Given the description of an element on the screen output the (x, y) to click on. 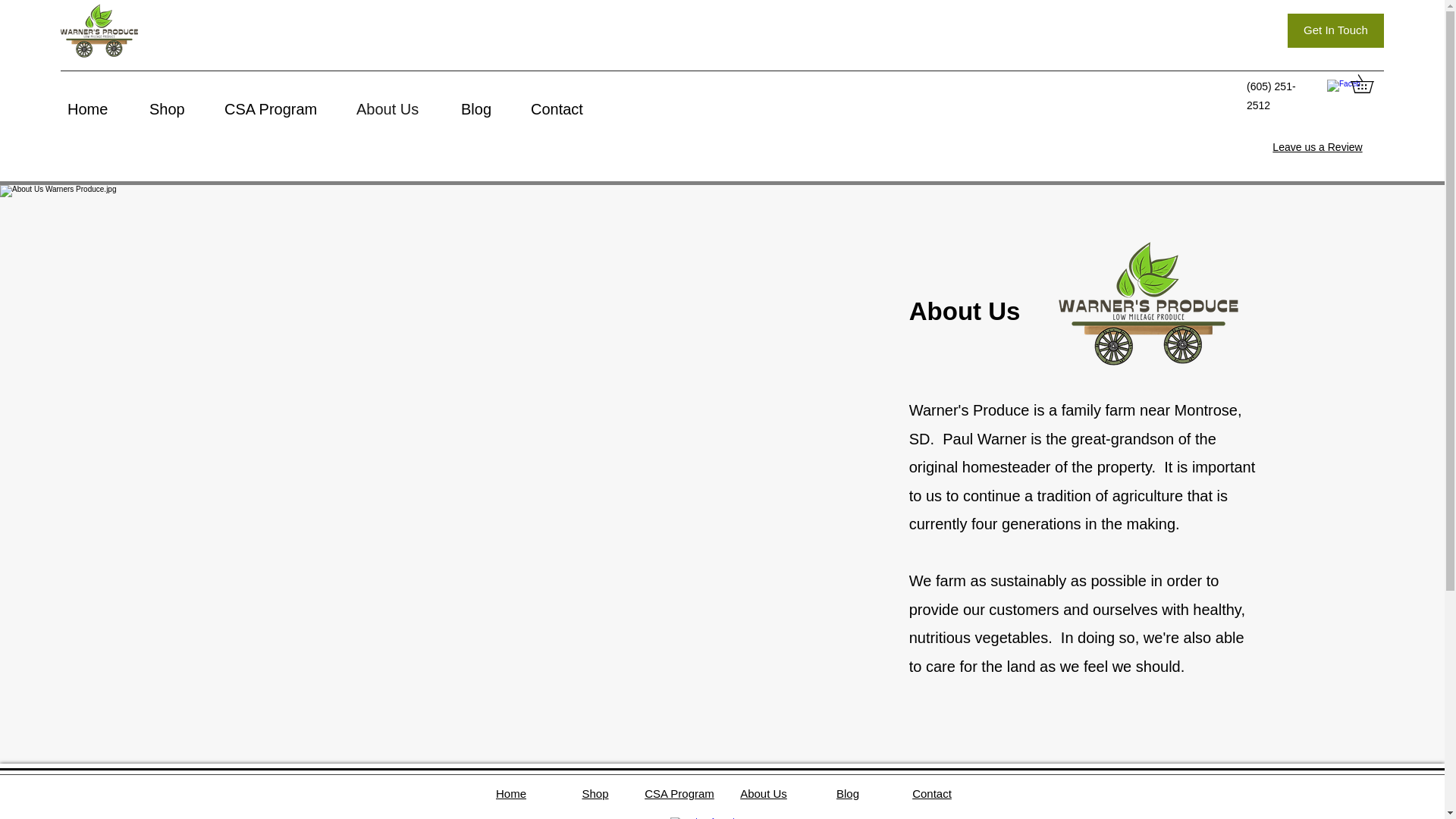
Shop (178, 107)
Get In Touch (1335, 30)
Home (100, 107)
Leave us a Review (1316, 146)
CSA Program (679, 793)
About Us (400, 107)
Blog (847, 793)
Contact (932, 793)
Shop (594, 793)
About Us (763, 793)
Home (510, 793)
CSA Program (282, 107)
Blog (487, 107)
Contact (569, 107)
